Given the description of an element on the screen output the (x, y) to click on. 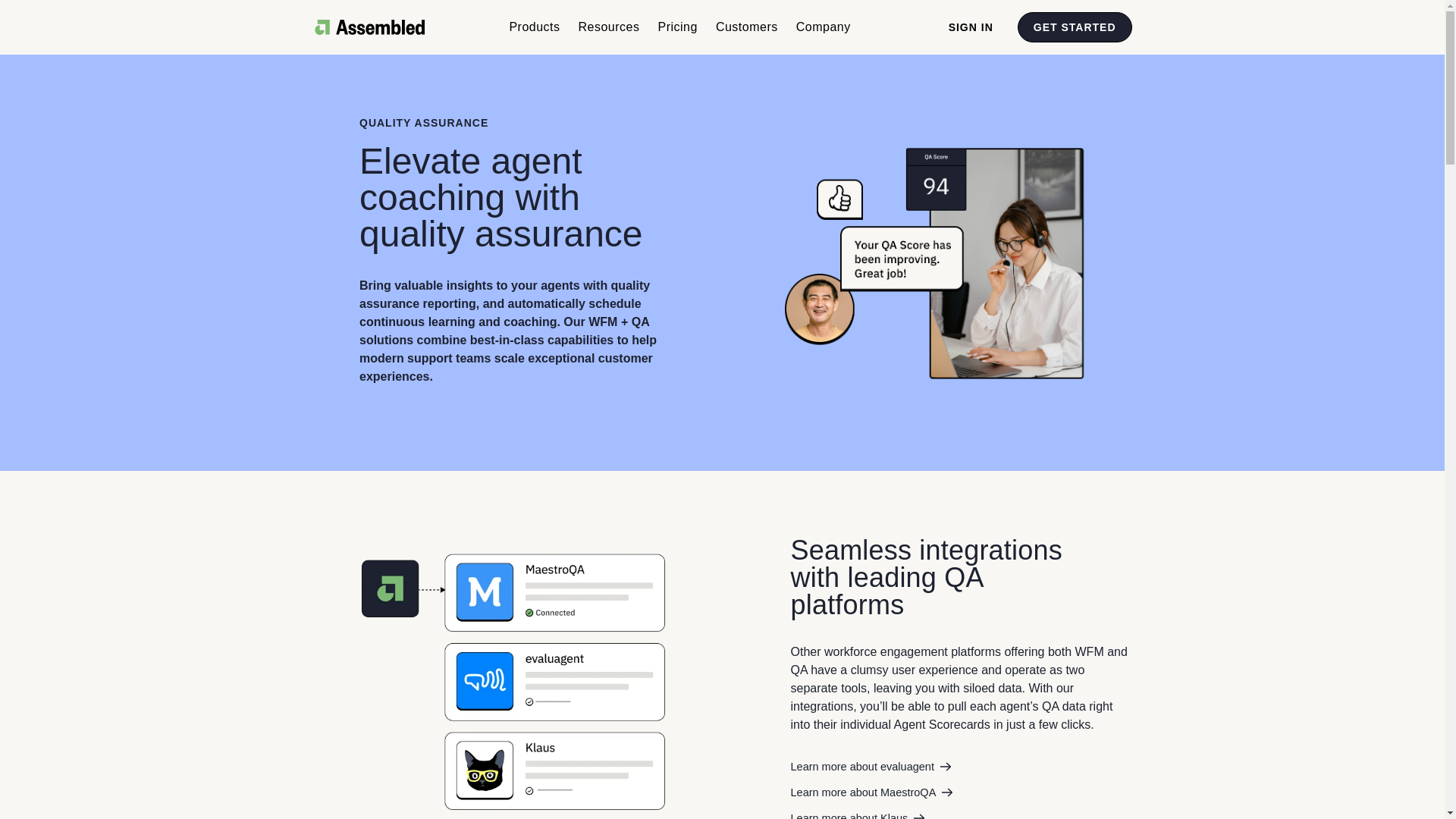
Customers (746, 27)
Pricing (677, 27)
